Given the description of an element on the screen output the (x, y) to click on. 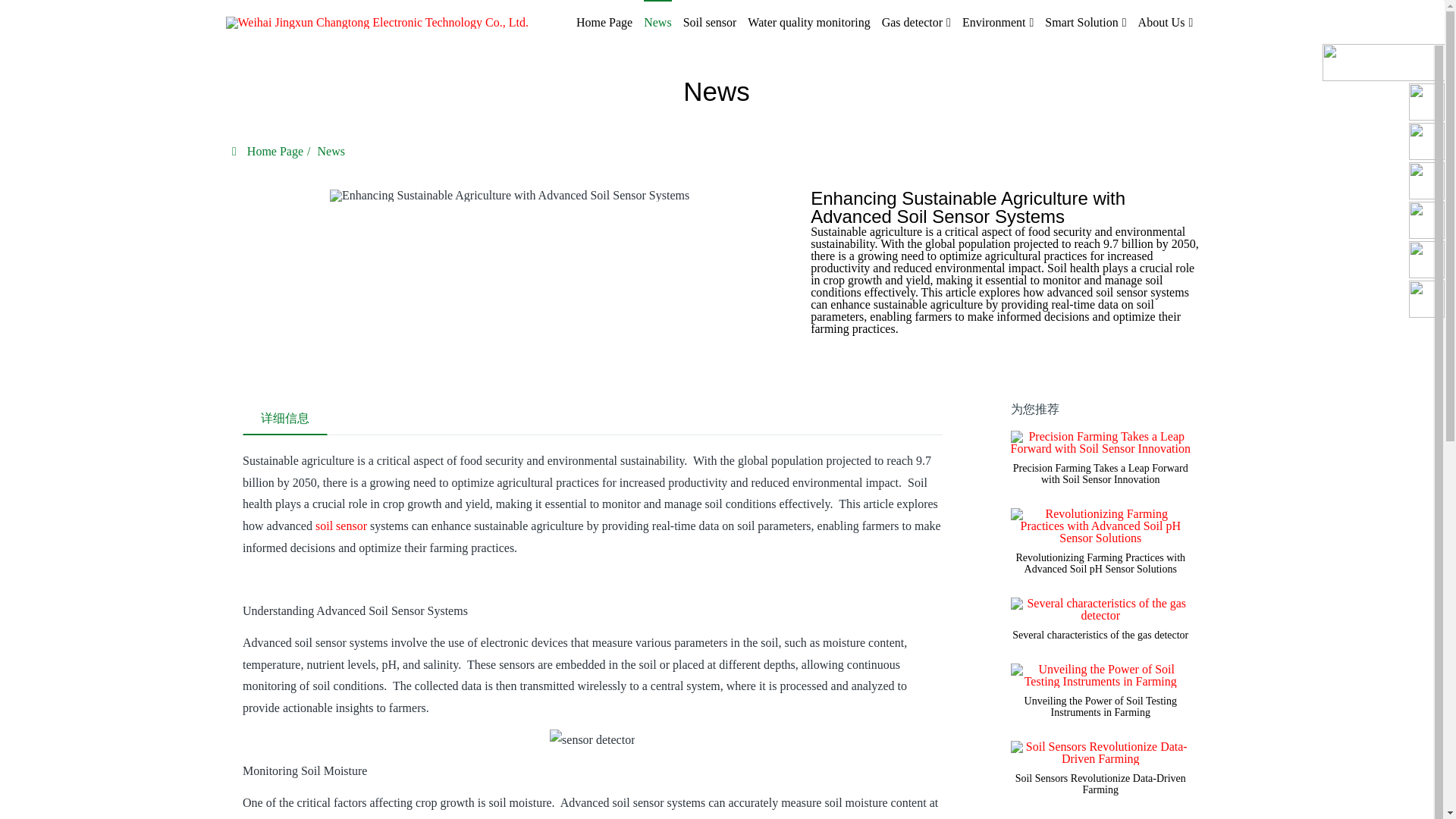
Water quality monitoring (808, 22)
Home Page (603, 22)
Soil sensor (709, 22)
Home Page (603, 22)
Soil sensor (709, 22)
Weihai Jingxun Changtong Electronic Technology Co., Ltd. (376, 22)
Water quality monitoring (808, 22)
Smart Solution (1085, 22)
Gas detector (916, 22)
Gas detector (916, 22)
